Given the description of an element on the screen output the (x, y) to click on. 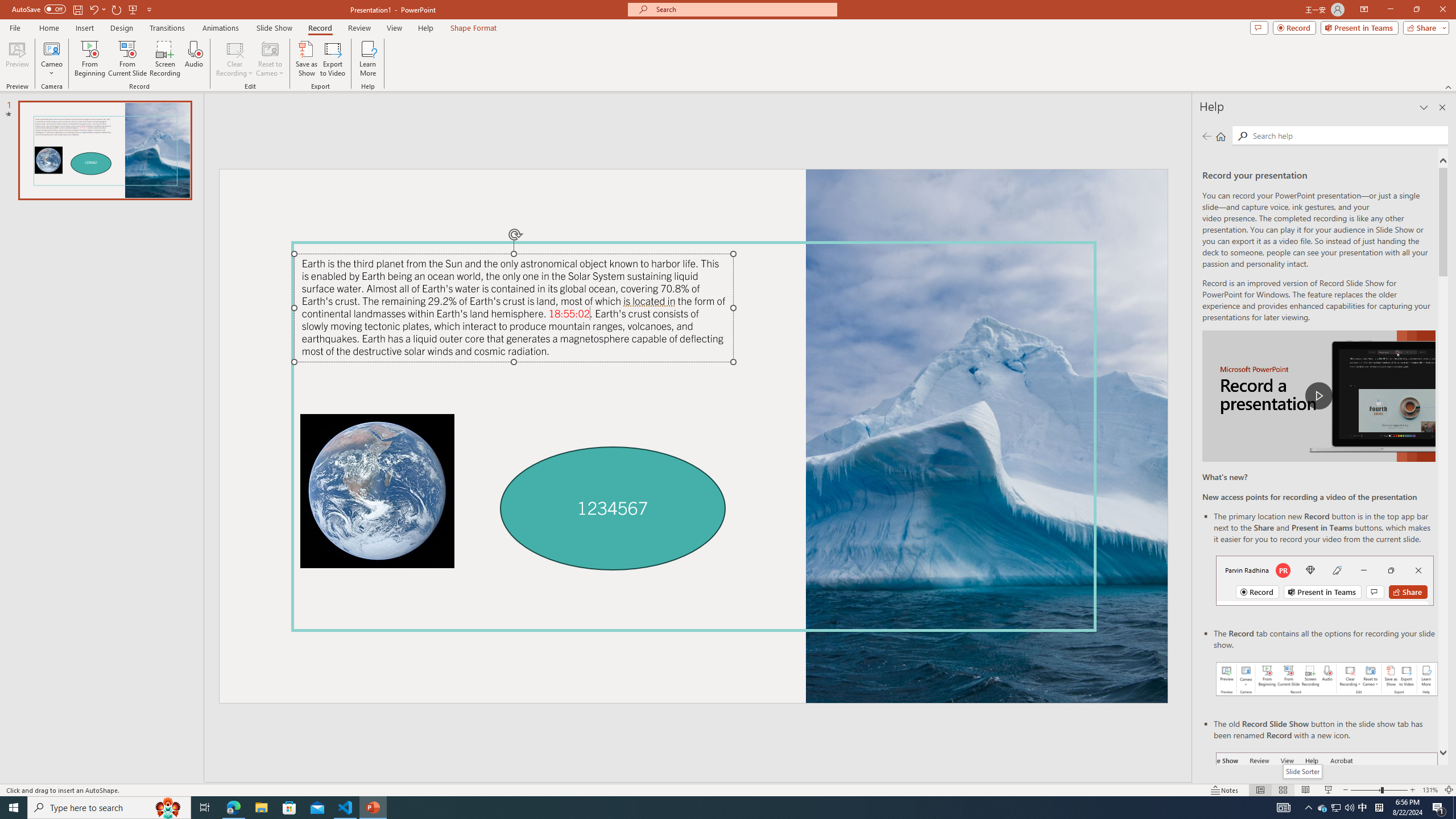
play Record a Presentation (1318, 395)
